Given the description of an element on the screen output the (x, y) to click on. 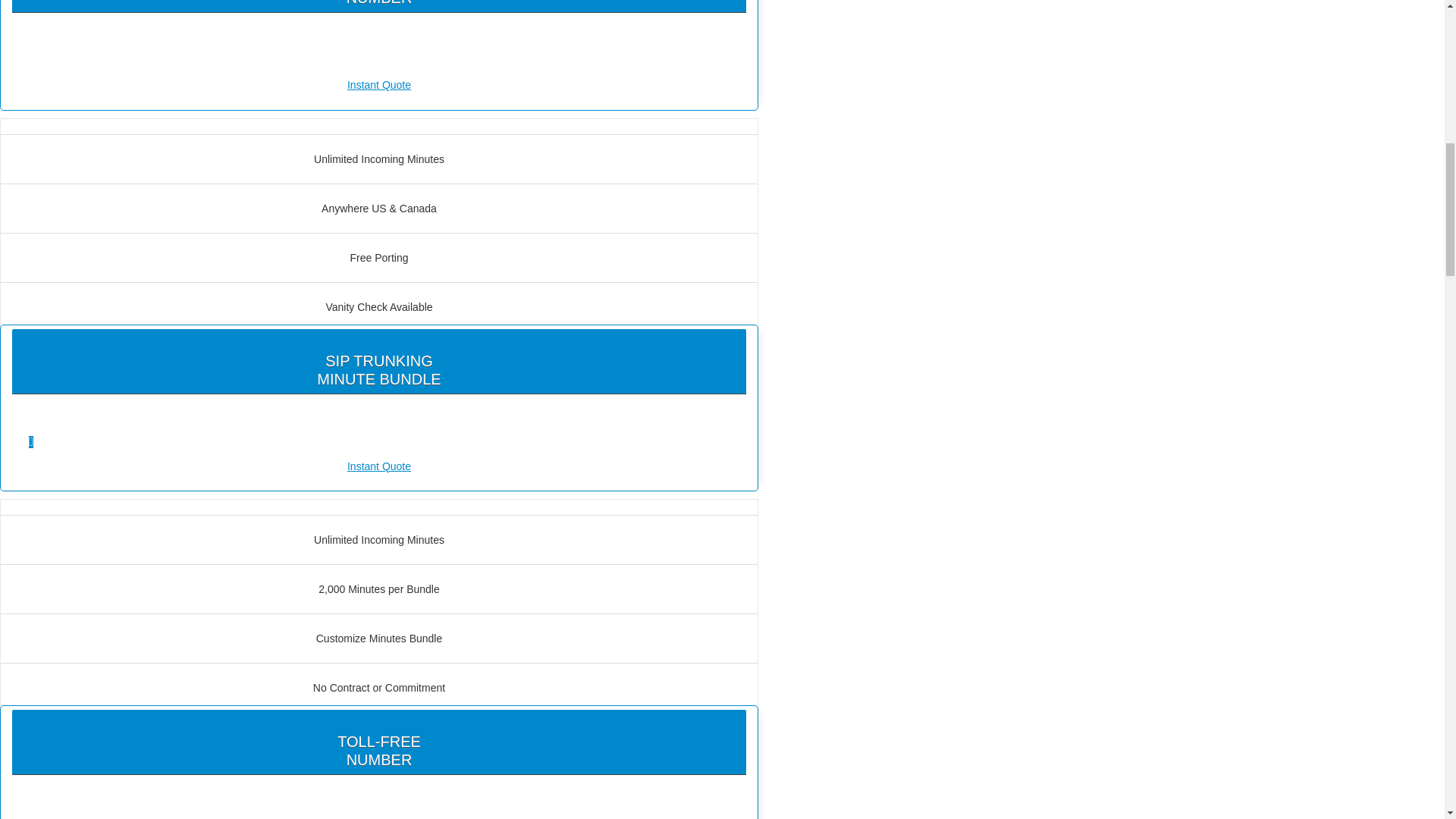
Instant Quote (378, 85)
Instant Quote (378, 465)
